Given the description of an element on the screen output the (x, y) to click on. 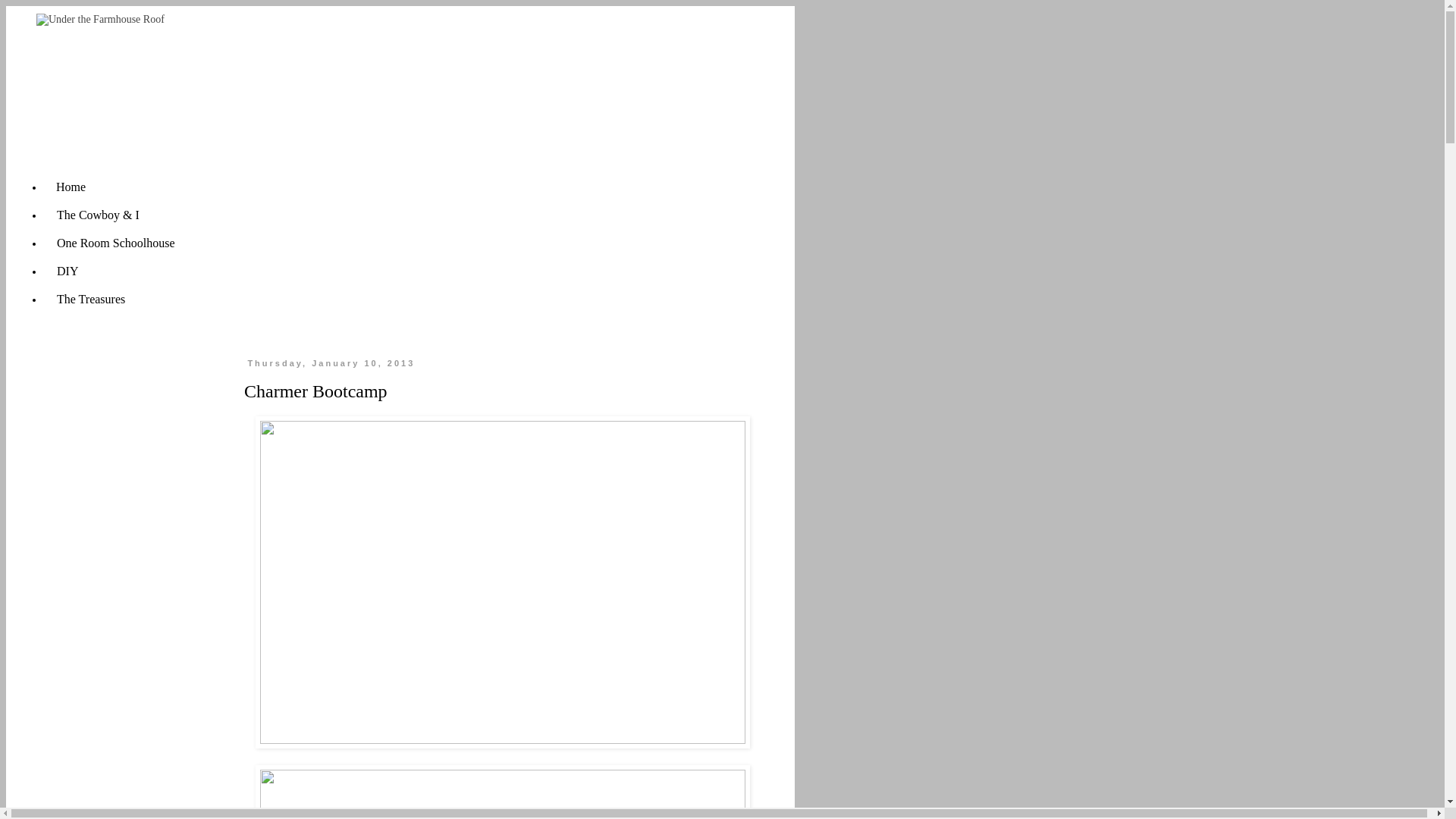
The Treasures (90, 299)
DIY (66, 271)
One Room Schoolhouse (115, 243)
Home (71, 186)
